Given the description of an element on the screen output the (x, y) to click on. 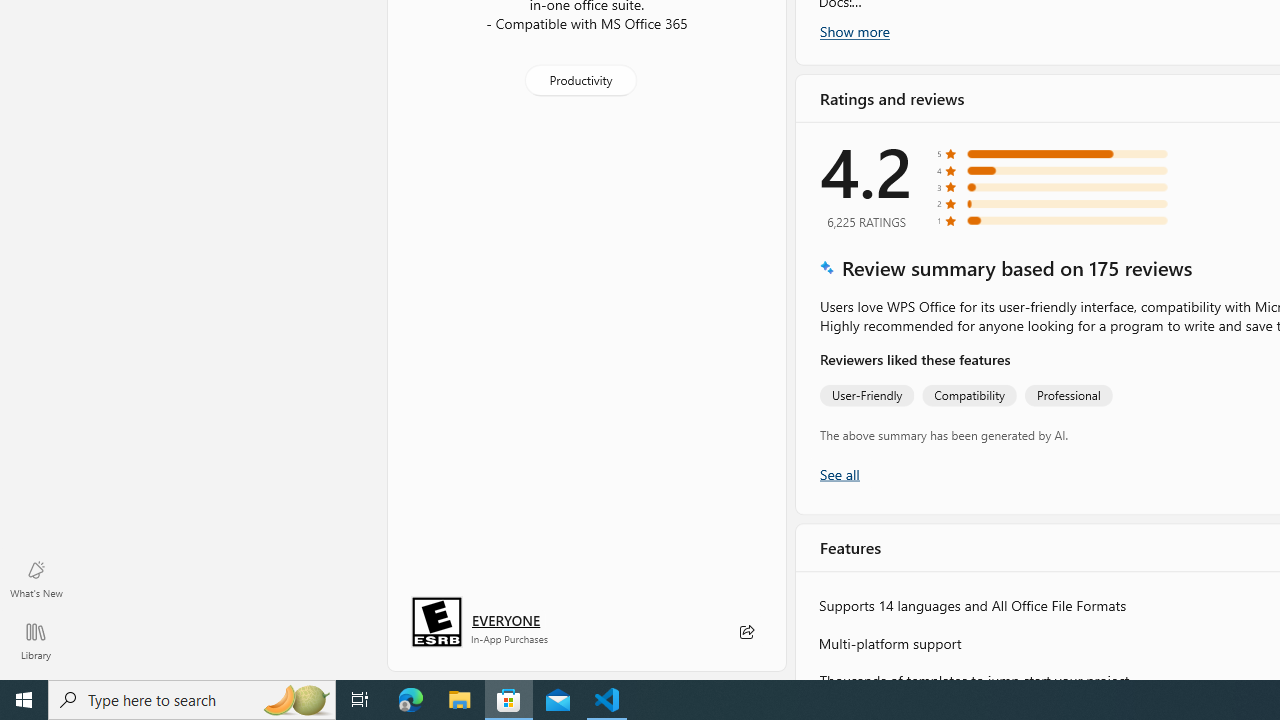
Productivity (579, 79)
Share (746, 632)
Show all ratings and reviews (838, 472)
Show more (854, 31)
Age rating: EVERYONE. Click for more information. (506, 619)
